Given the description of an element on the screen output the (x, y) to click on. 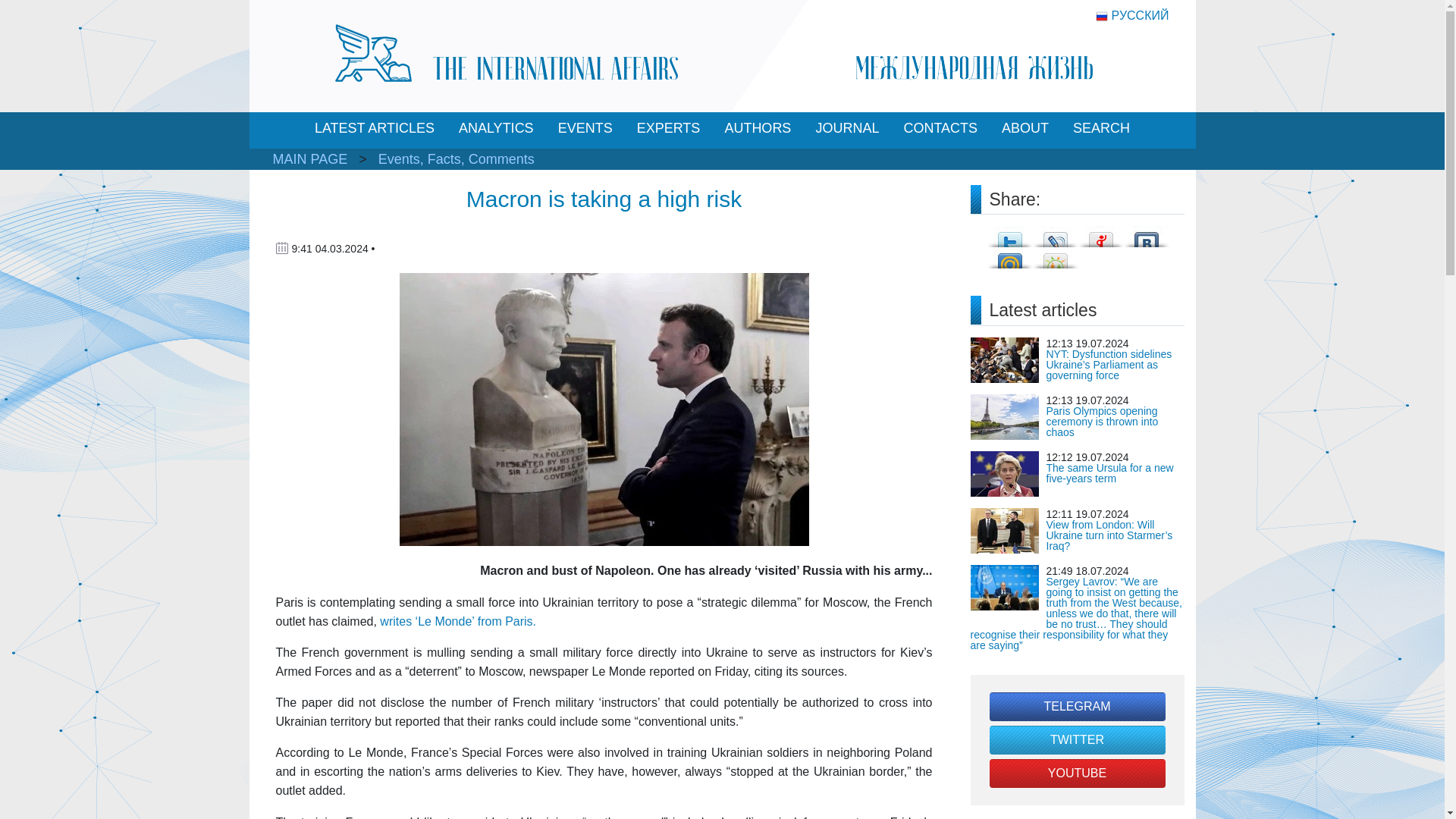
AUTHORS (756, 128)
Paris Olympics opening ceremony is thrown into chaos (1102, 421)
ANALYTICS (496, 128)
SEARCH (1101, 128)
EXPERTS (668, 128)
LATEST ARTICLES (374, 128)
Events, Facts, Comments (456, 159)
ABOUT (1024, 128)
EVENTS (584, 128)
The same Ursula for a new five-years term (1109, 472)
MAIN PAGE (310, 159)
JOURNAL (847, 128)
Paris Olympics opening ceremony is thrown into chaos (1102, 421)
CONTACTS (940, 128)
